Given the description of an element on the screen output the (x, y) to click on. 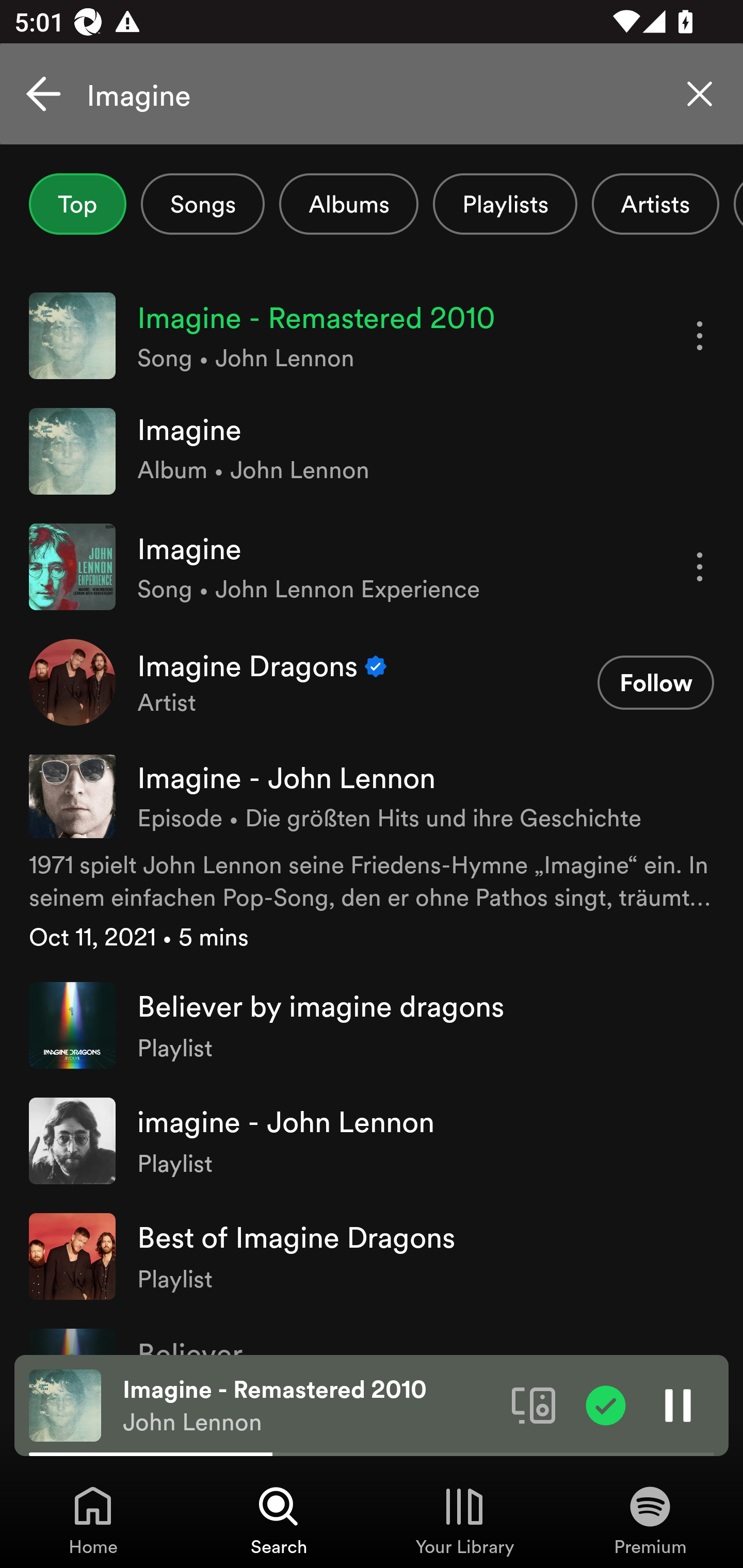
Imagine (371, 93)
Cancel (43, 93)
Clear search query (699, 93)
Top (77, 203)
Songs (202, 203)
Albums (348, 203)
Playlists (505, 203)
Artists (655, 203)
More options for song Imagine - Remastered 2010 (699, 336)
Imagine Album • John Lennon (371, 451)
More options for song Imagine (699, 566)
Imagine Dragons Verified Artist Follow Follow (371, 682)
Follow (655, 682)
Believer by imagine dragons  Playlist (371, 1025)
imagine - John Lennon Playlist (371, 1140)
Best of Imagine Dragons Playlist (371, 1255)
Imagine - Remastered 2010 John Lennon (309, 1405)
The cover art of the currently playing track (64, 1404)
Connect to a device. Opens the devices menu (533, 1404)
Item added (605, 1404)
Pause (677, 1404)
Home, Tab 1 of 4 Home Home (92, 1519)
Search, Tab 2 of 4 Search Search (278, 1519)
Your Library, Tab 3 of 4 Your Library Your Library (464, 1519)
Premium, Tab 4 of 4 Premium Premium (650, 1519)
